Given the description of an element on the screen output the (x, y) to click on. 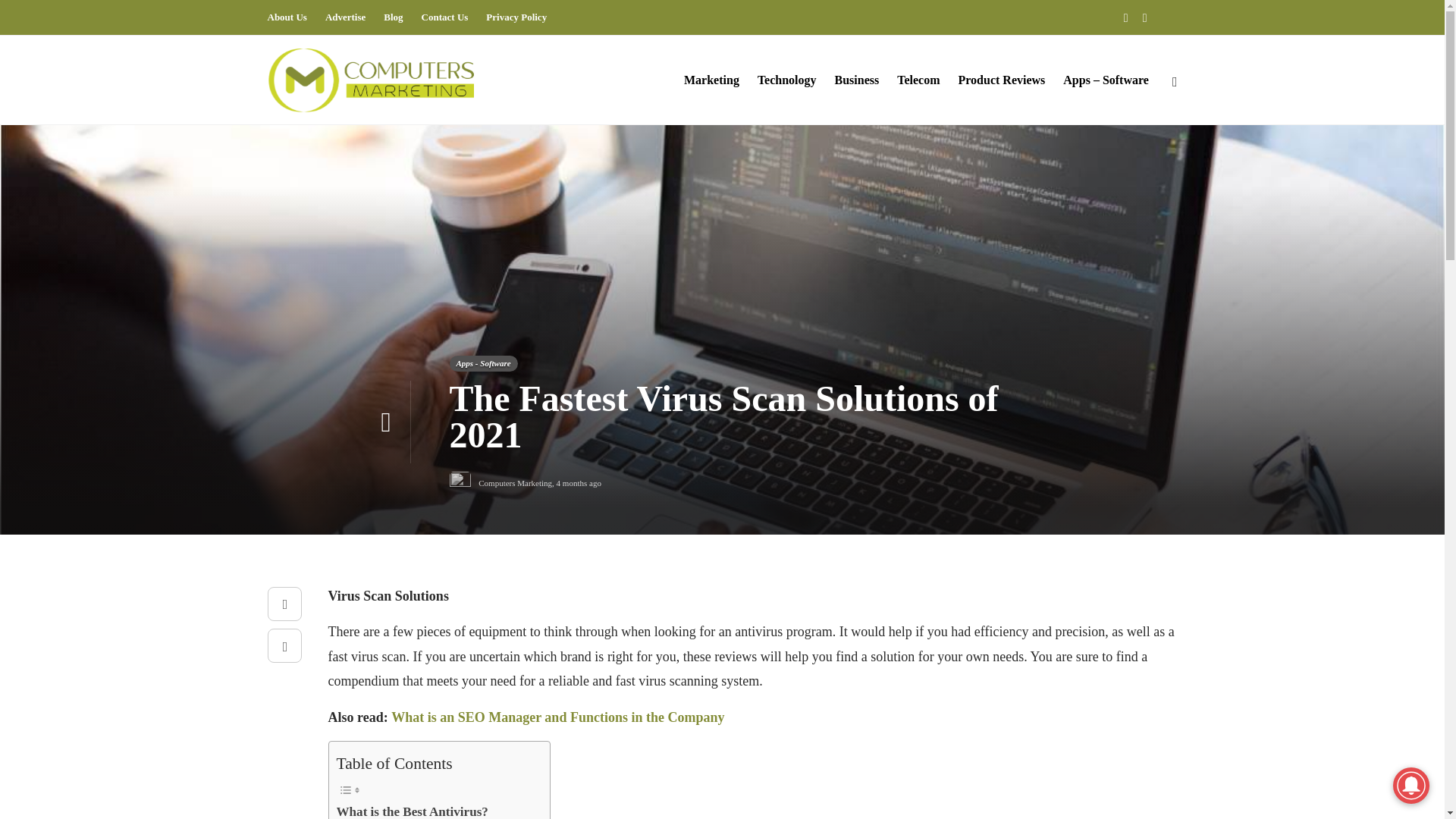
About Us (285, 17)
What is the Best Antivirus? (411, 810)
Advertise (344, 17)
Privacy Policy (516, 17)
Contact Us (445, 17)
